Given the description of an element on the screen output the (x, y) to click on. 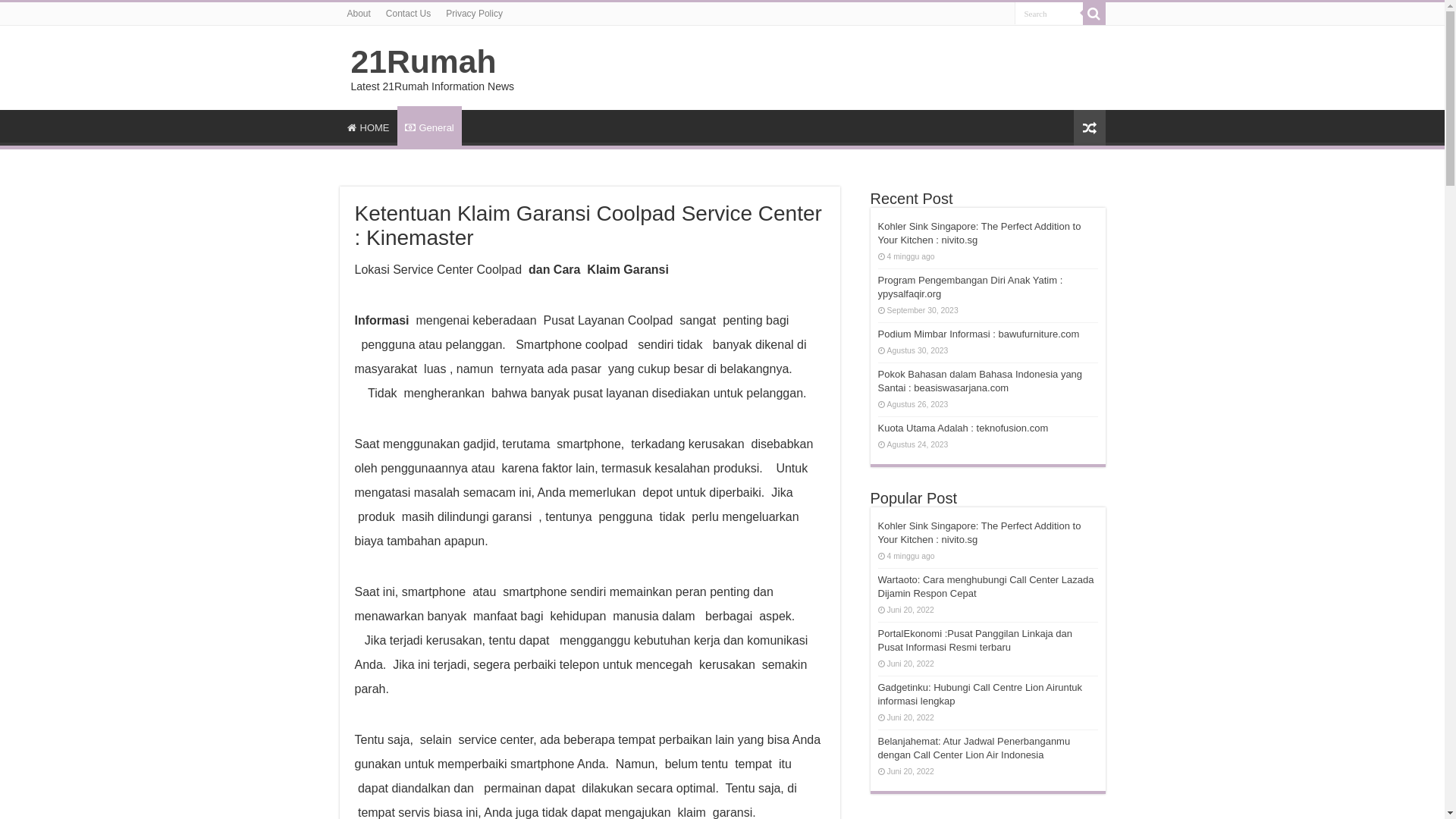
Program Pengembangan Diri Anak Yatim : ypysalfaqir.org Element type: text (970, 286)
21Rumah Element type: text (422, 61)
General Element type: text (429, 125)
Search Element type: text (1093, 13)
About Element type: text (358, 13)
Random Article Element type: hover (1089, 127)
Kuota Utama Adalah : teknofusion.com Element type: text (963, 427)
Search Element type: hover (1048, 13)
Podium Mimbar Informasi : bawufurniture.com Element type: text (978, 333)
Contact Us Element type: text (408, 13)
HOME Element type: text (368, 125)
Privacy Policy Element type: text (474, 13)
